Given the description of an element on the screen output the (x, y) to click on. 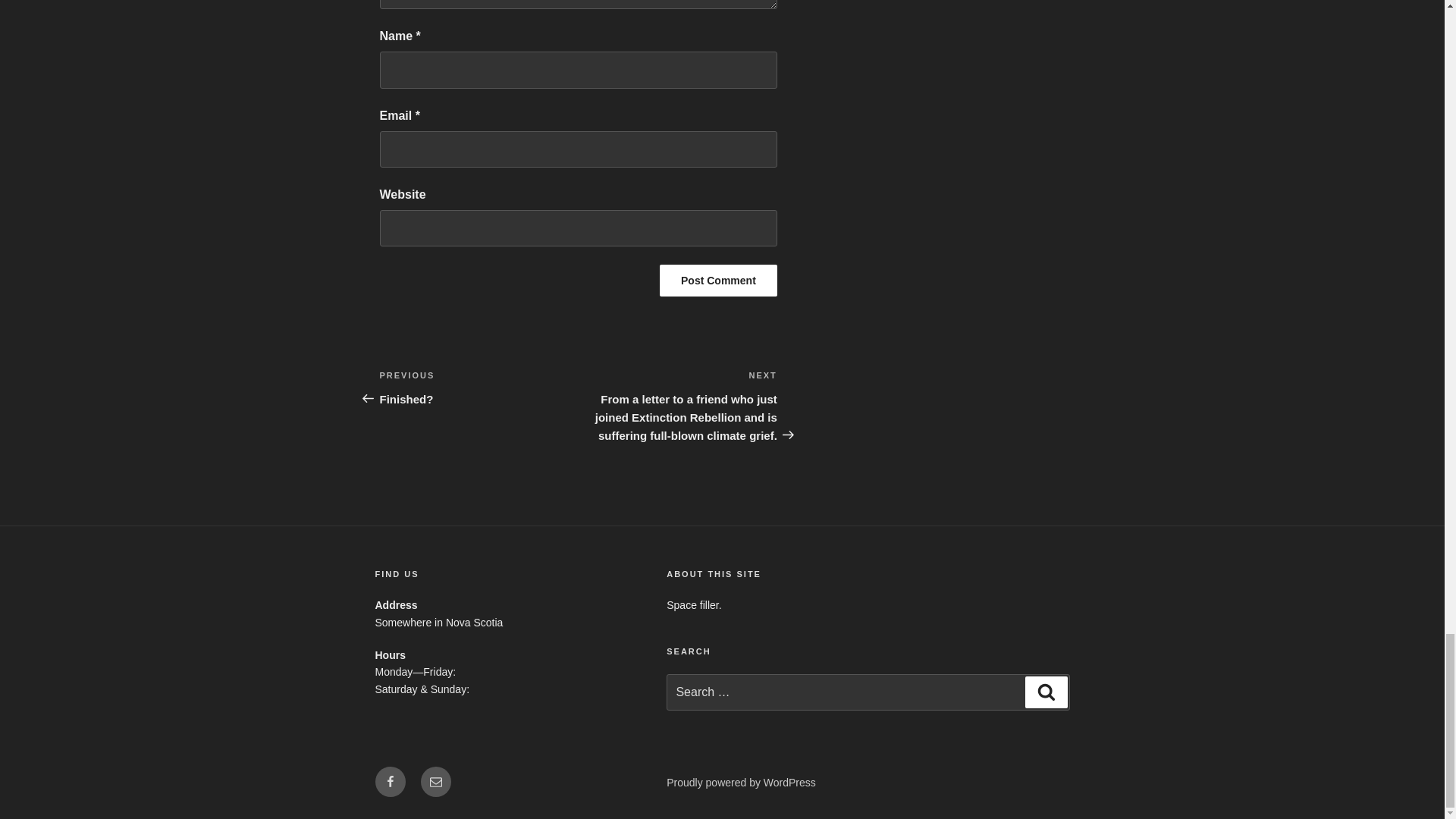
Facebook (389, 781)
Post Comment (718, 280)
Post Comment (718, 280)
Proudly powered by WordPress (478, 387)
Search (740, 782)
Email (1046, 692)
